Given the description of an element on the screen output the (x, y) to click on. 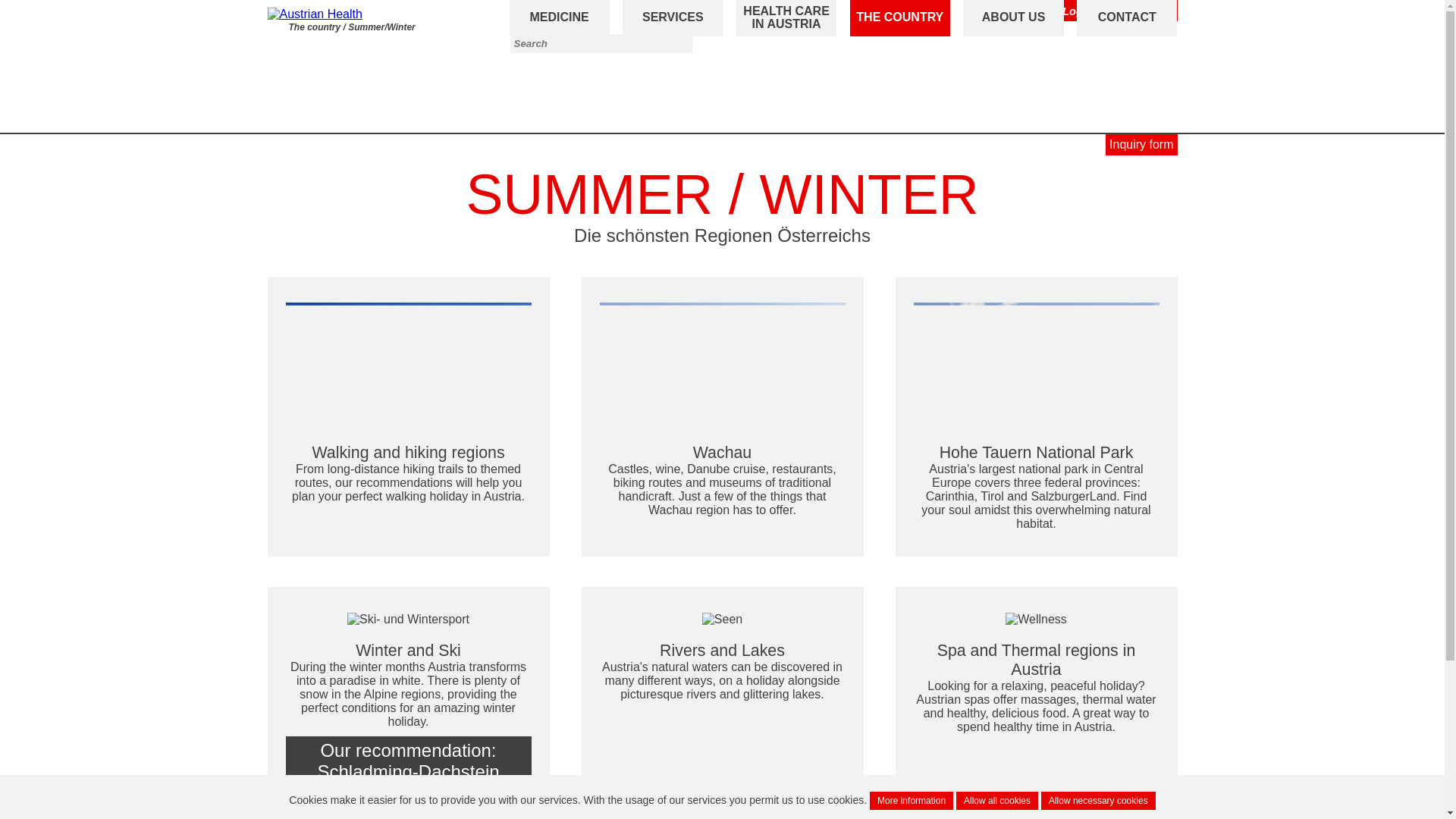
Home (274, 28)
CONTACT (1126, 18)
SERVICES (672, 18)
